Given the description of an element on the screen output the (x, y) to click on. 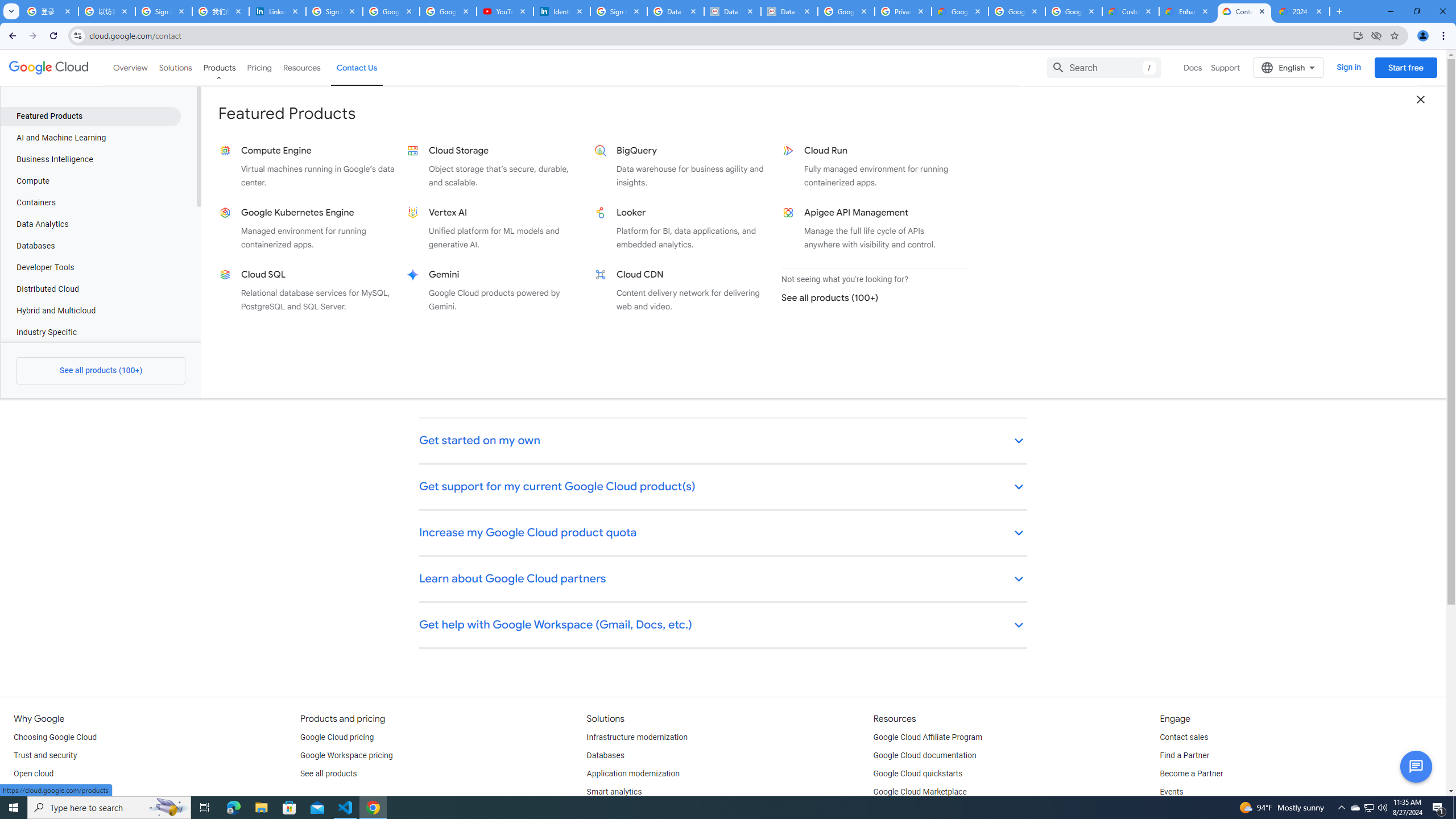
Learn about Google Cloud partners keyboard_arrow_down (723, 579)
Google Cloud Marketplace (919, 791)
Choosing Google Cloud (55, 737)
Install Google Cloud (1358, 35)
